Given the description of an element on the screen output the (x, y) to click on. 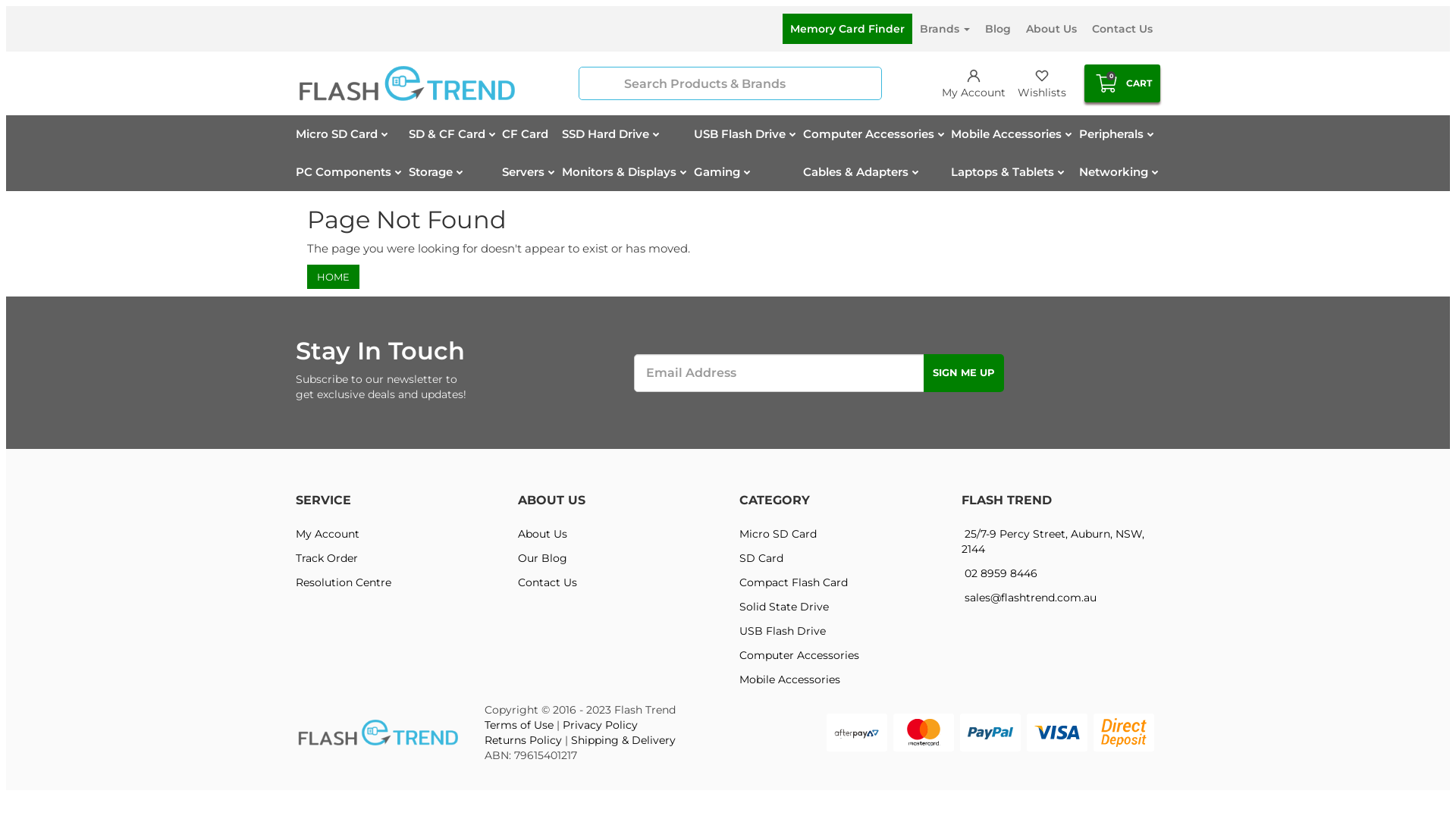
Flash Trend Element type: hover (377, 732)
Brands Element type: text (944, 28)
SD Card Element type: text (838, 557)
Contact Us Element type: text (1122, 28)
0
CART Element type: text (1122, 83)
Privacy Policy Element type: text (599, 724)
25/7-9 Percy Street, Auburn, NSW, 2144 Element type: text (1061, 541)
Contact Us Element type: text (616, 582)
Micro SD Card Element type: text (342, 134)
Peripherals Element type: text (1117, 134)
Flash Trend Element type: hover (406, 82)
Micro SD Card Element type: text (838, 533)
Blog Element type: text (997, 28)
Mobile Accessories Element type: text (838, 679)
USB Flash Drive Element type: text (838, 630)
Solid State Drive Element type: text (838, 606)
My Account Element type: text (395, 533)
HOME Element type: text (333, 276)
Cables & Adapters Element type: text (861, 172)
Servers Element type: text (529, 172)
SSD Hard Drive Element type: text (611, 134)
Laptops & Tablets Element type: text (1008, 172)
Computer Accessories Element type: text (838, 654)
SD & CF Card Element type: text (452, 134)
Terms of Use Element type: text (518, 724)
USB Flash Drive Element type: text (745, 134)
Monitors & Displays Element type: text (624, 172)
Track Order Element type: text (395, 557)
02 8959 8446 Element type: text (1061, 572)
Sign Me Up Element type: text (963, 373)
CF Card Element type: text (525, 134)
Wishlists Element type: text (1041, 83)
Memory Card Finder Element type: text (847, 28)
Our Blog Element type: text (616, 557)
Returns Policy Element type: text (522, 739)
Mobile Accessories Element type: text (1011, 134)
Networking Element type: text (1119, 172)
sales@flashtrend.com.au Element type: text (1061, 597)
My Account Element type: text (973, 83)
Compact Flash Card Element type: text (838, 582)
Shipping & Delivery Element type: text (623, 739)
Storage Element type: text (436, 172)
About Us Element type: text (1051, 28)
Search Element type: text (601, 83)
Computer Accessories Element type: text (874, 134)
About Us Element type: text (616, 533)
Resolution Centre Element type: text (395, 582)
Gaming Element type: text (722, 172)
PC Components Element type: text (349, 172)
